Given the description of an element on the screen output the (x, y) to click on. 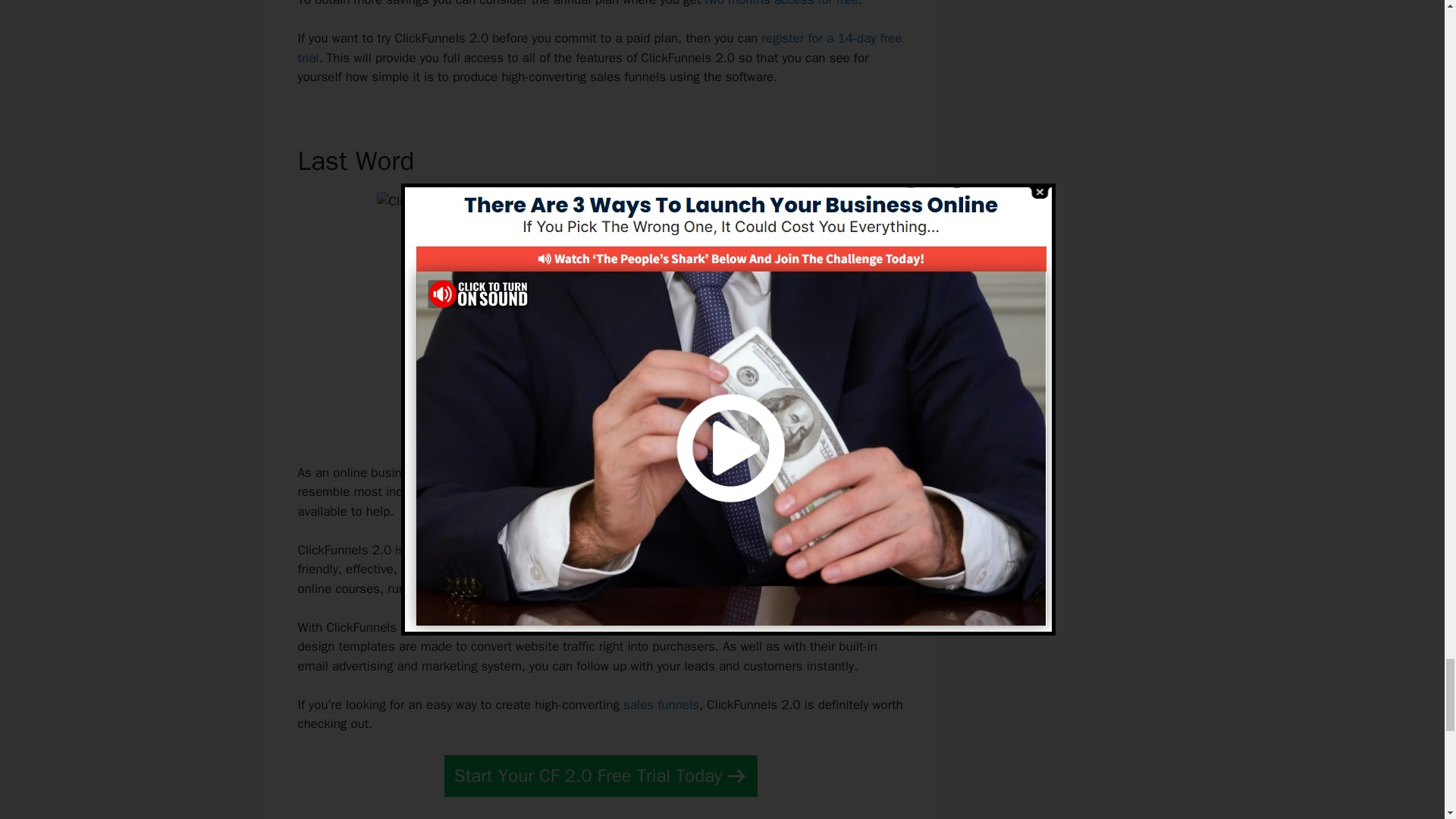
sales funnels are necessary for your success (675, 472)
two months access for free (781, 3)
register for a 14-day free trial (599, 48)
Start Your CF 2.0 Free Trial Today (600, 775)
sales funnels (660, 704)
